Given the description of an element on the screen output the (x, y) to click on. 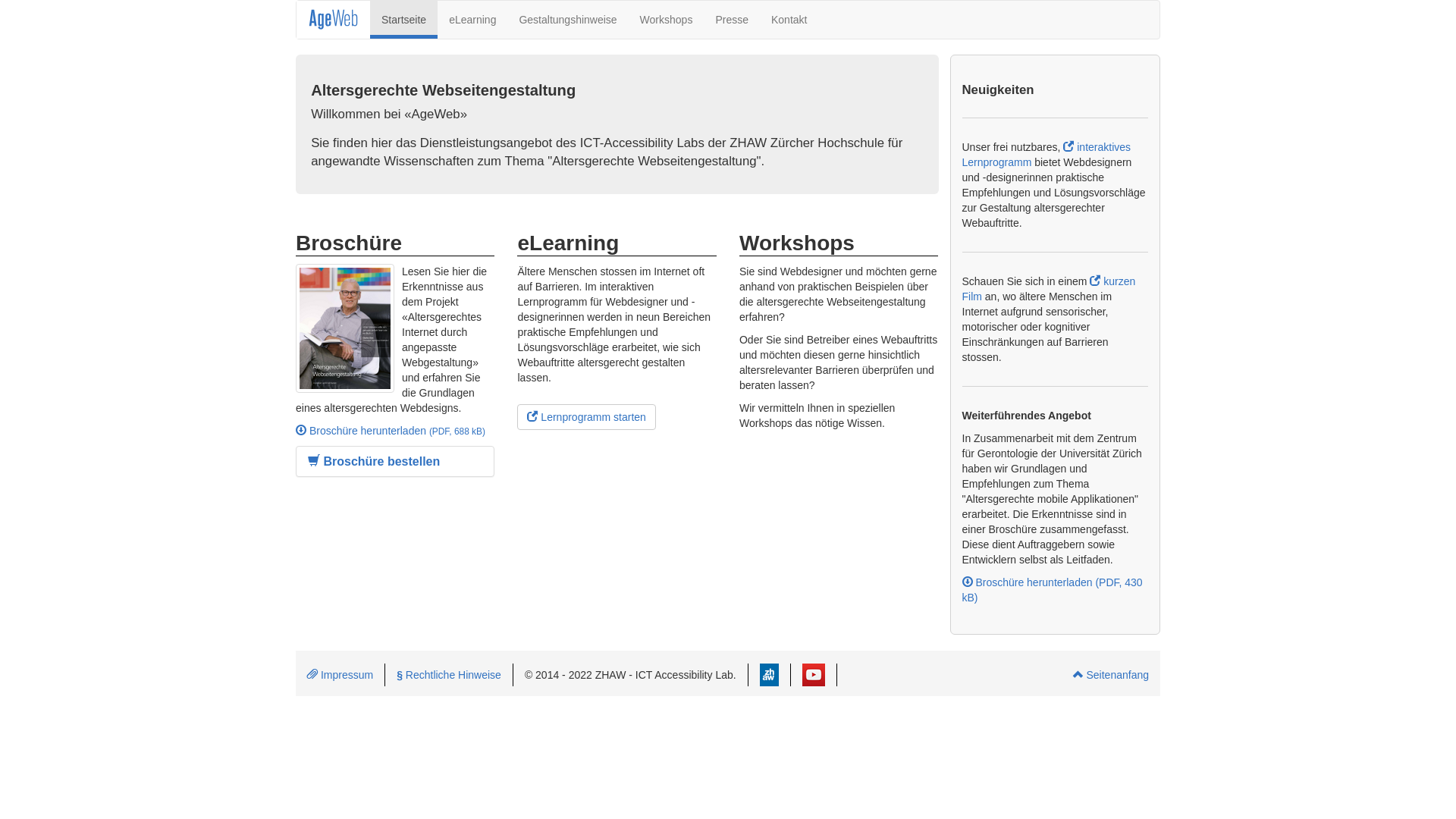
Seitenanfang Element type: text (1110, 674)
Presse Element type: text (731, 19)
Lernprogramm starten Element type: text (586, 416)
eLearning Element type: text (472, 19)
Impressum Element type: text (340, 674)
Startseite Element type: text (403, 19)
Rechtliche Hinweise Element type: text (448, 674)
Gestaltungshinweise Element type: text (567, 19)
Kontakt Element type: text (788, 19)
Workshops Element type: text (666, 19)
interaktives Lernprogramm Element type: text (1045, 154)
kurzen Film Element type: text (1048, 288)
